Given the description of an element on the screen output the (x, y) to click on. 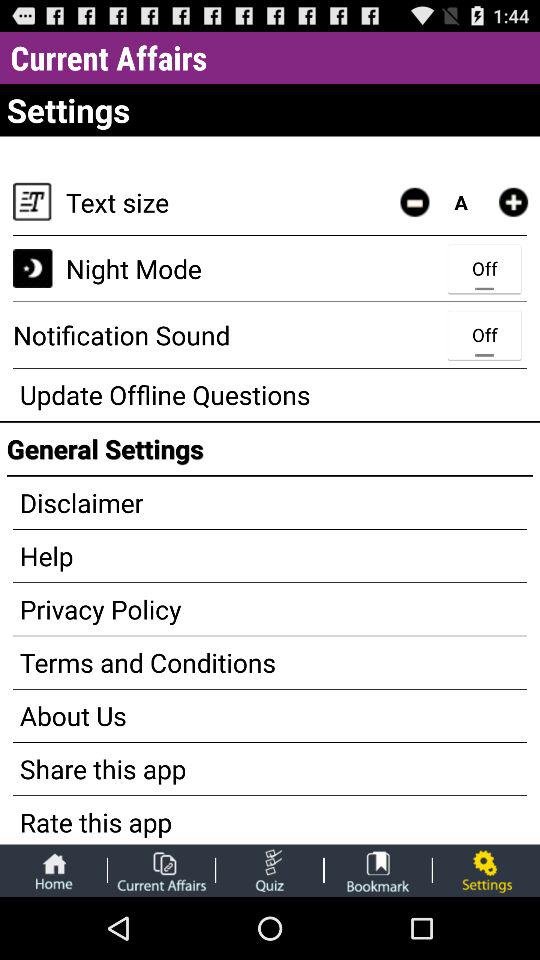
turn on app next to text size app (414, 202)
